Given the description of an element on the screen output the (x, y) to click on. 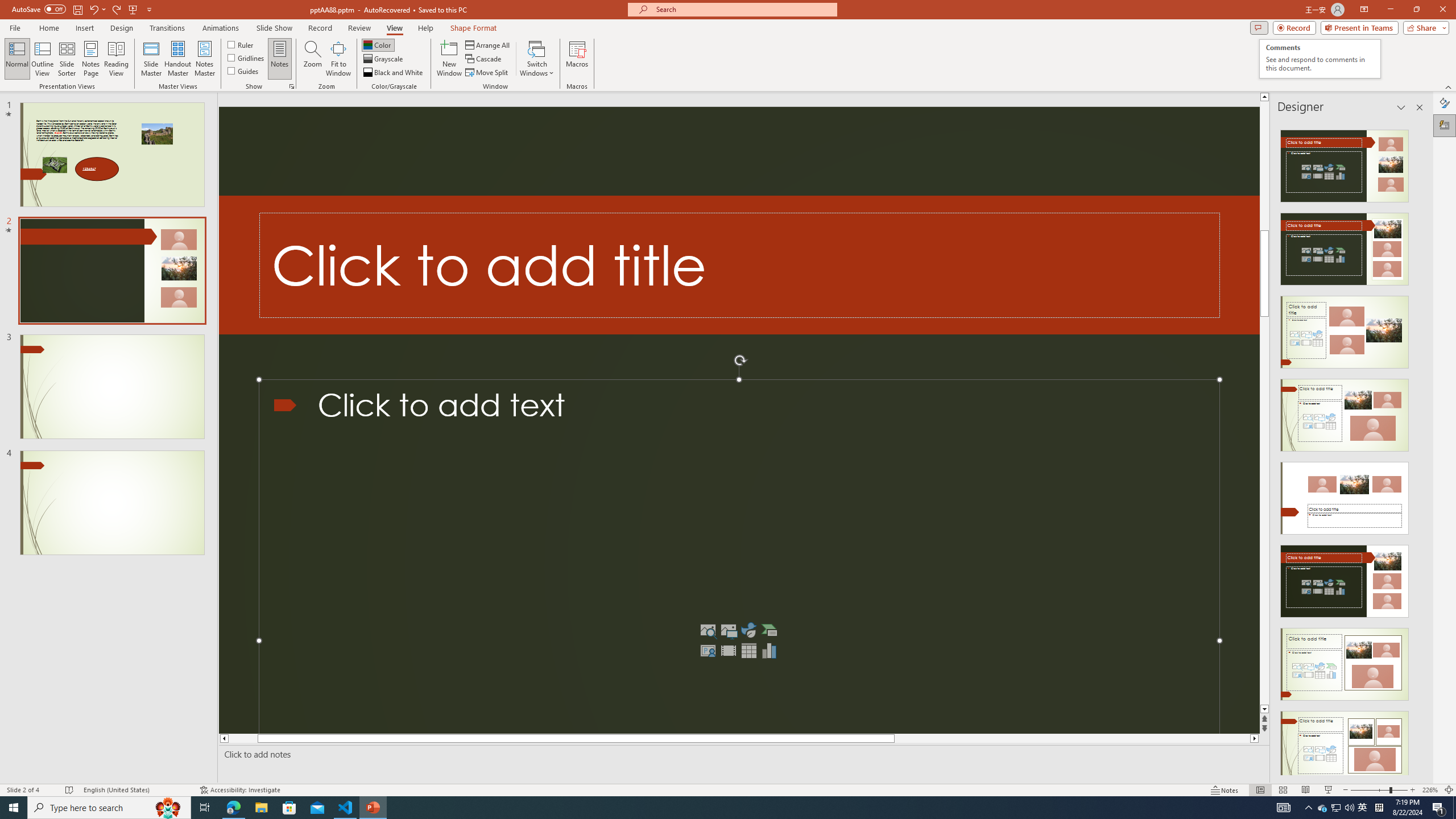
Slide Master (151, 58)
